Given the description of an element on the screen output the (x, y) to click on. 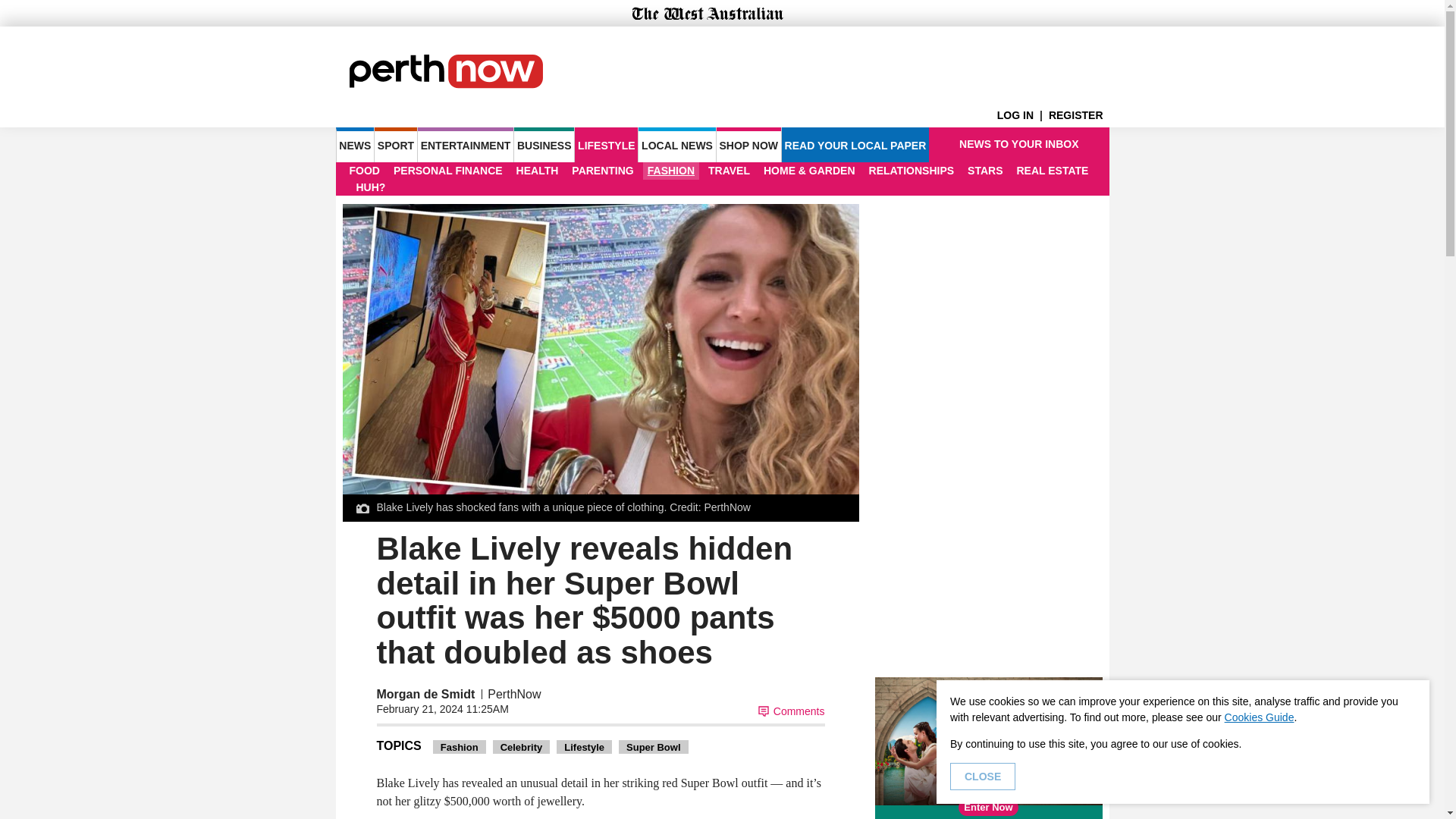
LOG IN (1022, 115)
REGISTER (1078, 115)
ENTERTAINMENT (465, 144)
SPORT (395, 144)
NEWS (354, 144)
